Given the description of an element on the screen output the (x, y) to click on. 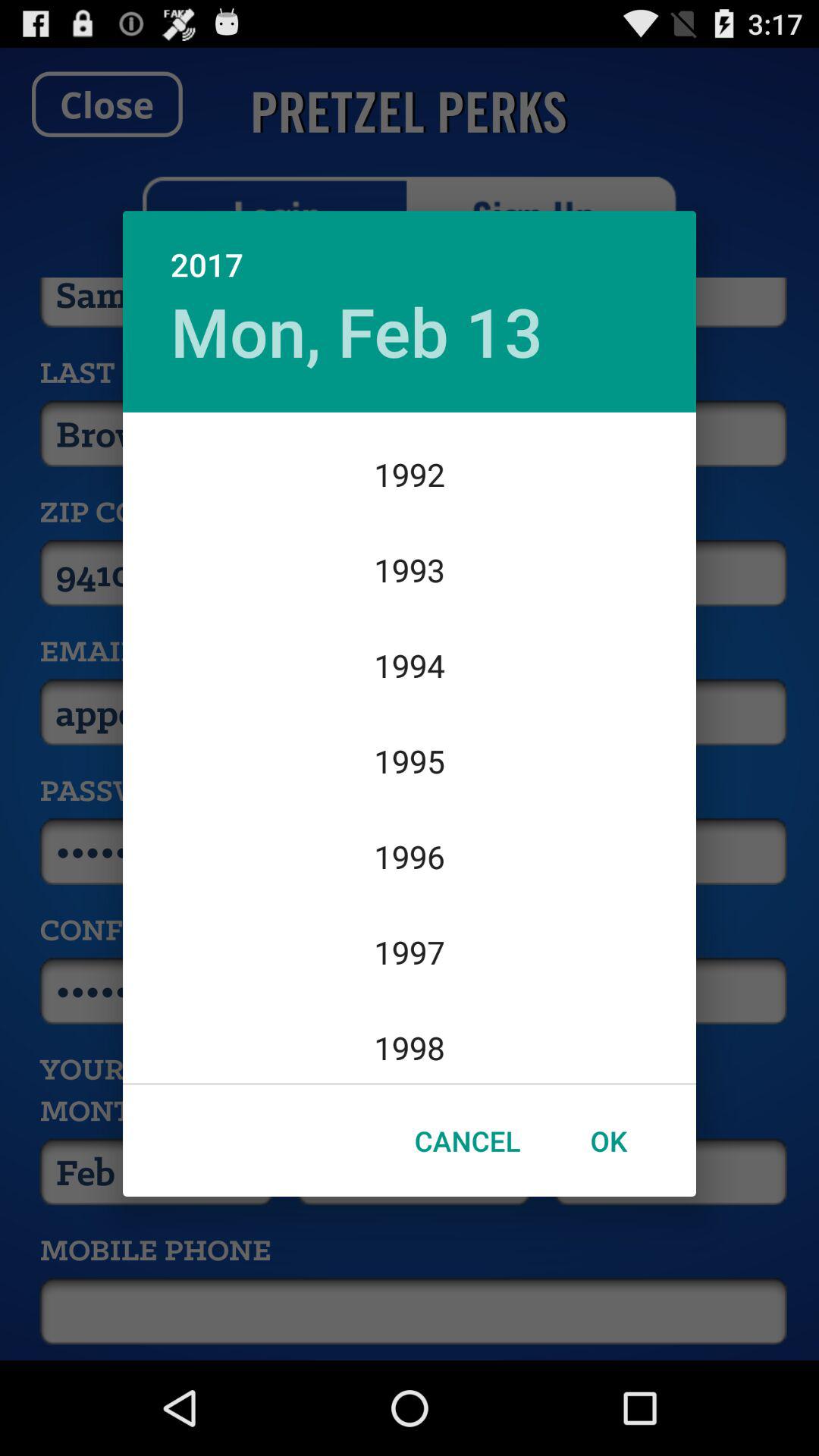
scroll until the 2017 (409, 248)
